Given the description of an element on the screen output the (x, y) to click on. 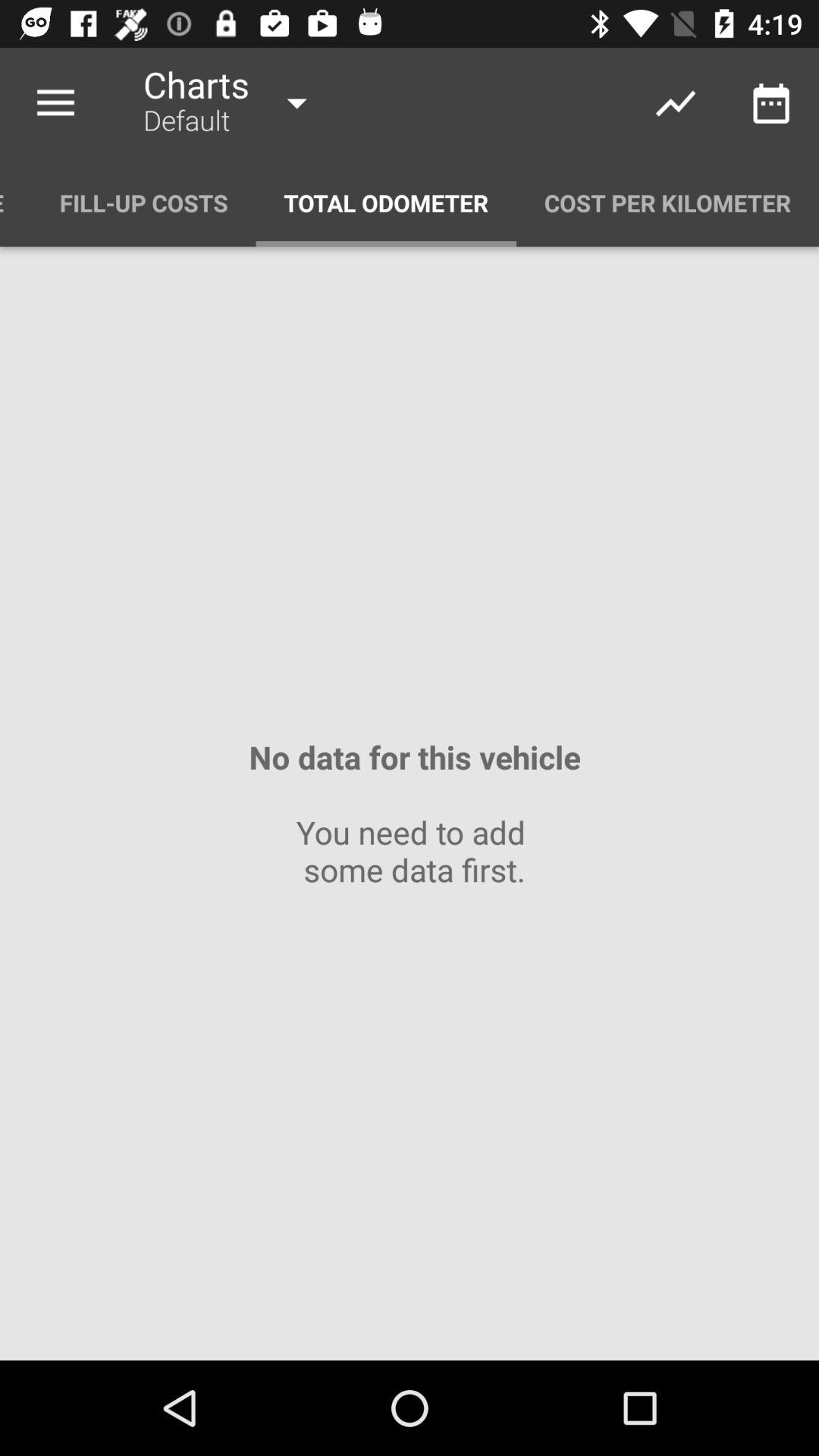
turn off icon next to total odometer icon (143, 202)
